Given the description of an element on the screen output the (x, y) to click on. 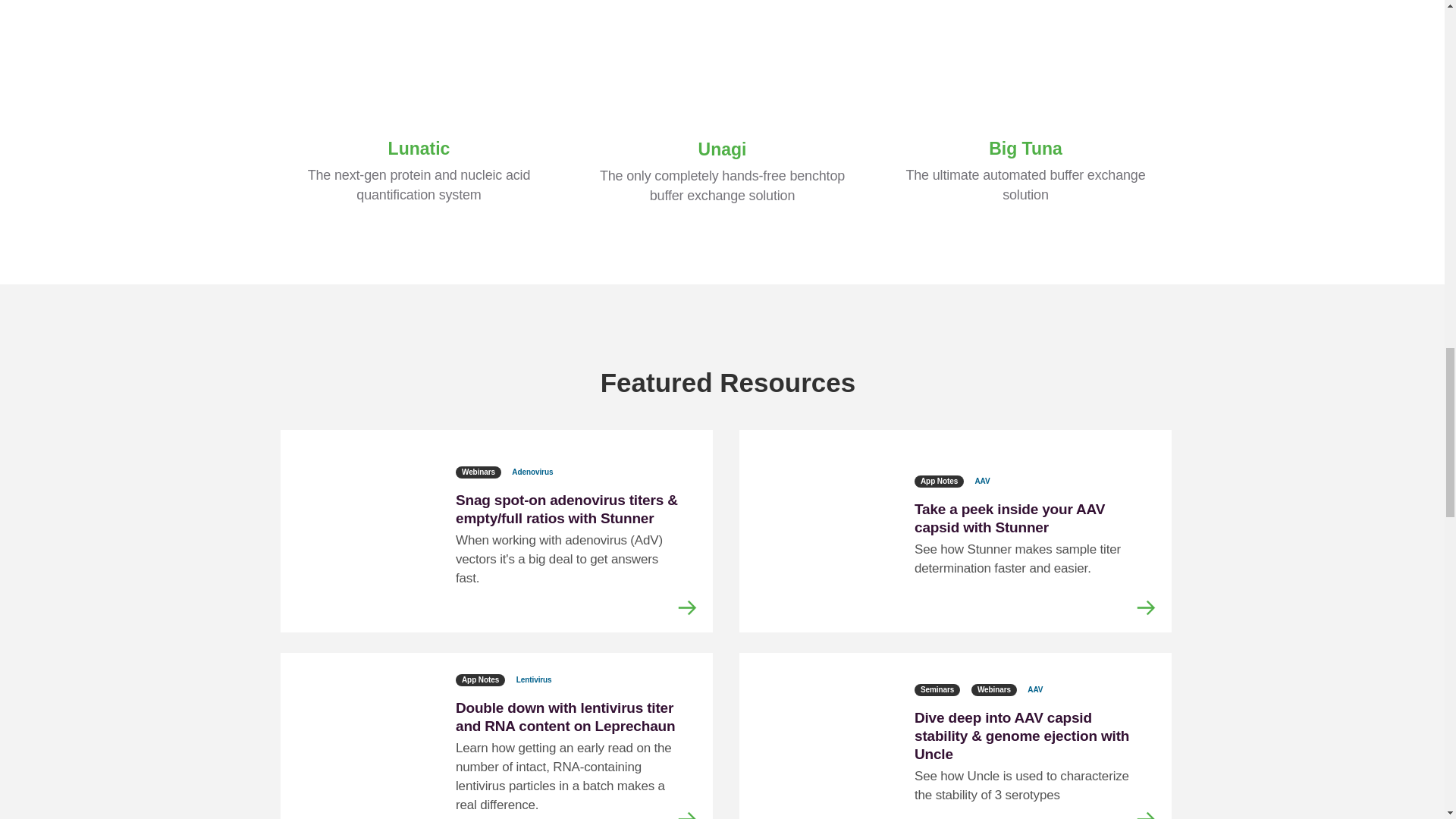
Featured Resources (721, 367)
